Given the description of an element on the screen output the (x, y) to click on. 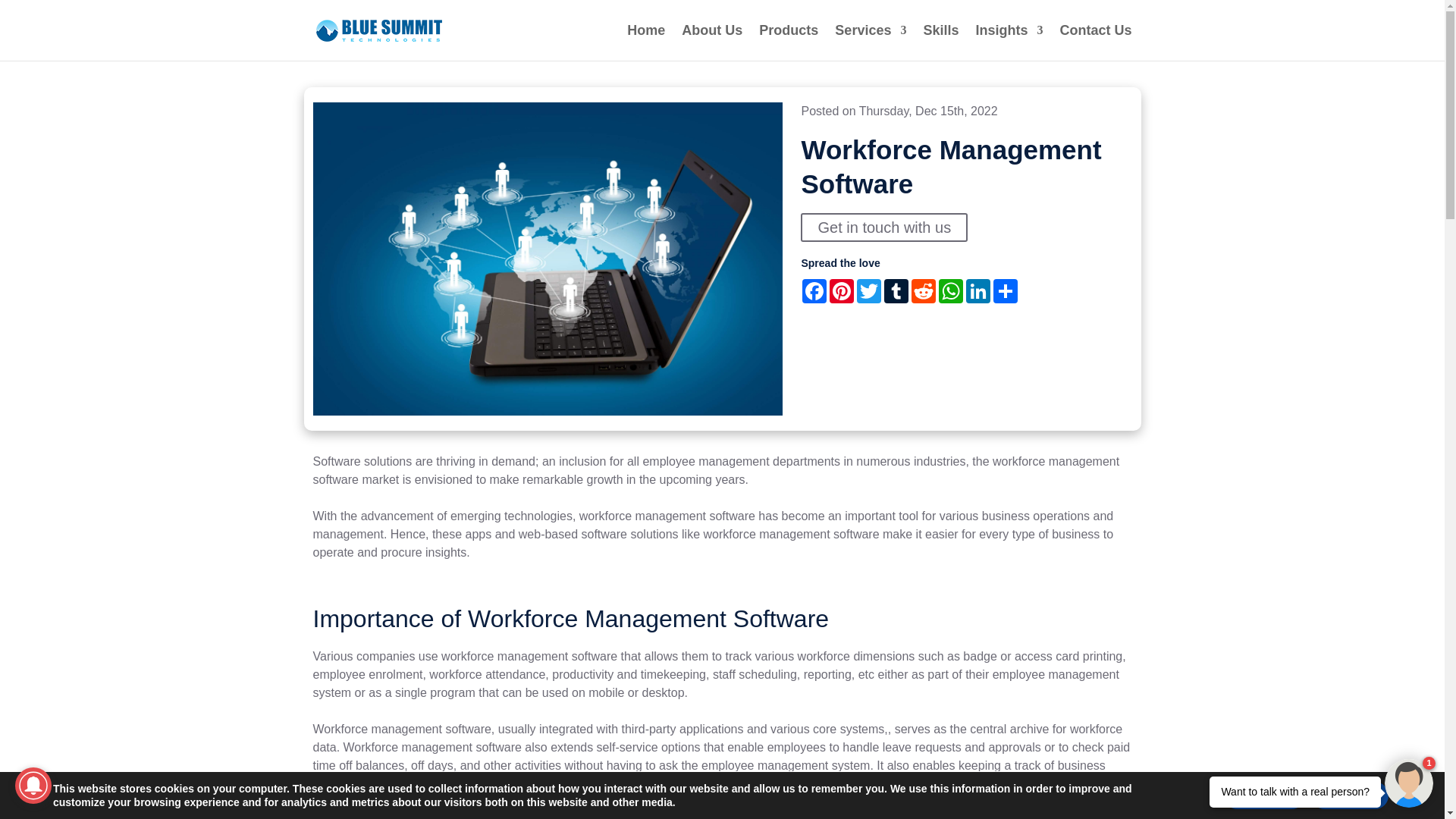
Facebook (814, 291)
Pinterest (842, 291)
Services (869, 42)
About Us (711, 42)
Products (788, 42)
Get in touch with us (884, 226)
Skills (940, 42)
Contact Us (1095, 42)
Home (646, 42)
Twitter (869, 291)
Insights (1008, 42)
